Given the description of an element on the screen output the (x, y) to click on. 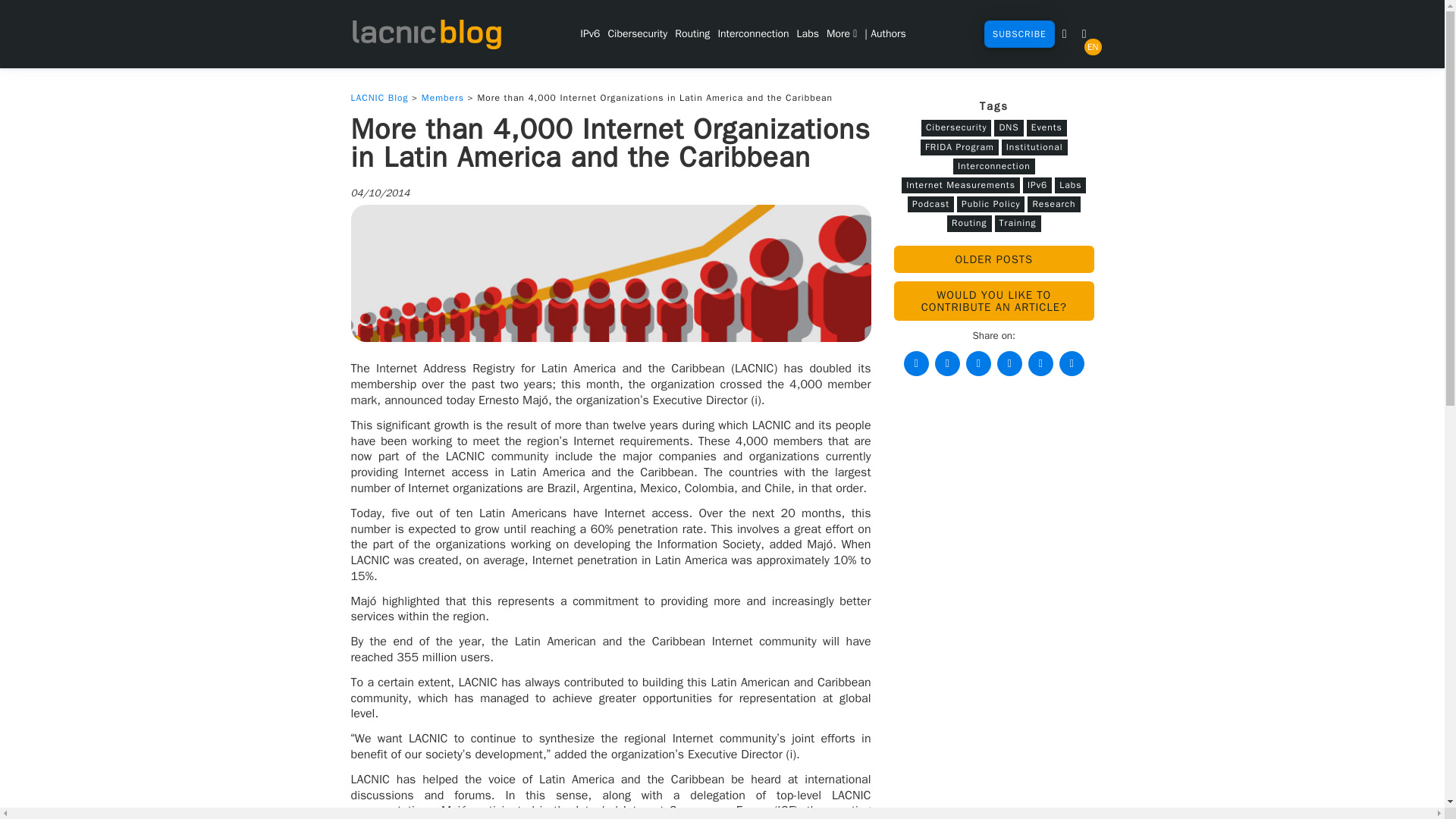
Cibersecurity (637, 33)
Routing (692, 33)
IPv6 (590, 33)
Interconnection (752, 33)
More (841, 33)
Labs (807, 33)
